Given the description of an element on the screen output the (x, y) to click on. 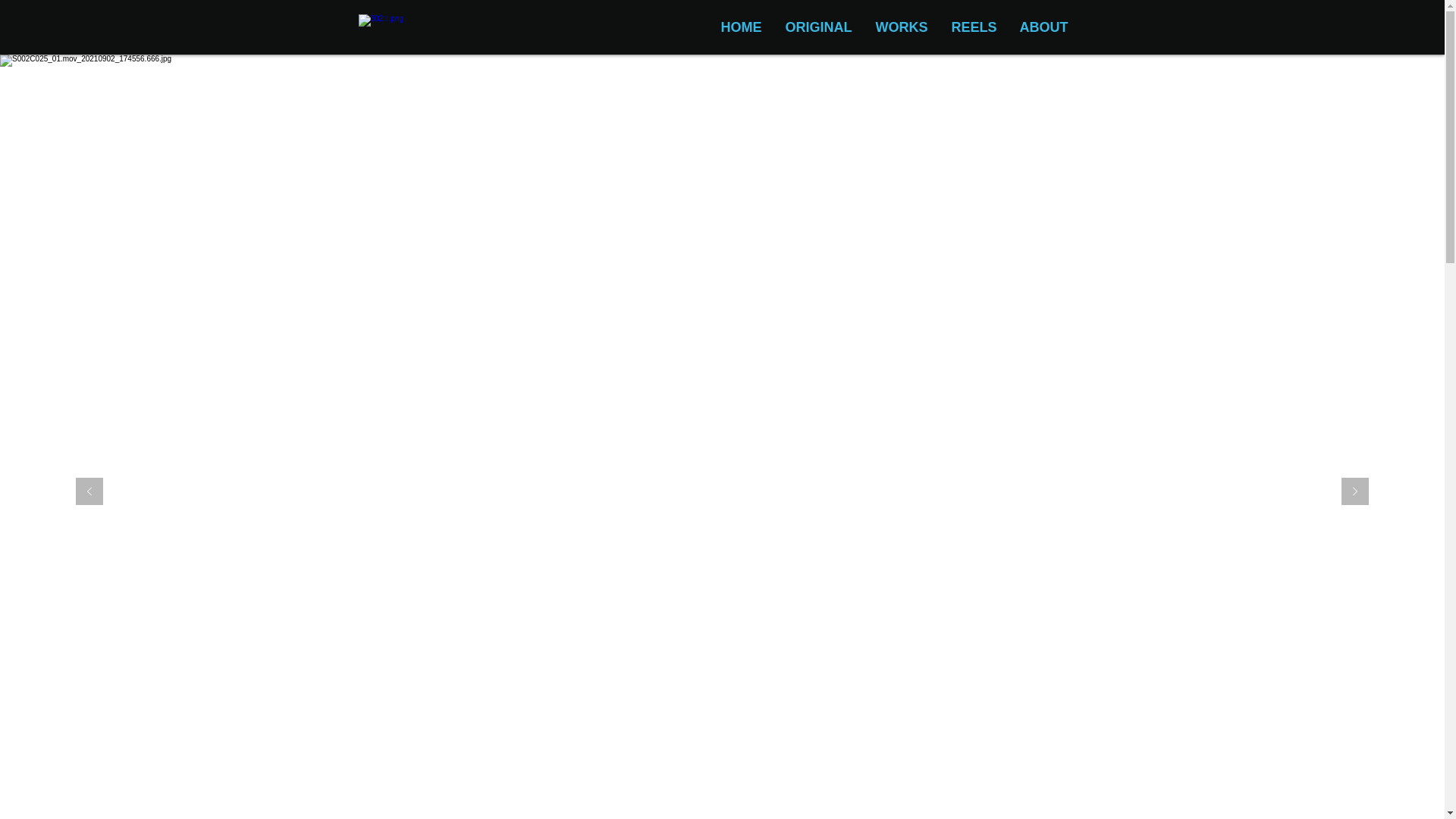
ABOUT Element type: text (1043, 27)
REELS Element type: text (972, 27)
WORKS Element type: text (900, 27)
HOME Element type: text (740, 27)
